Given the description of an element on the screen output the (x, y) to click on. 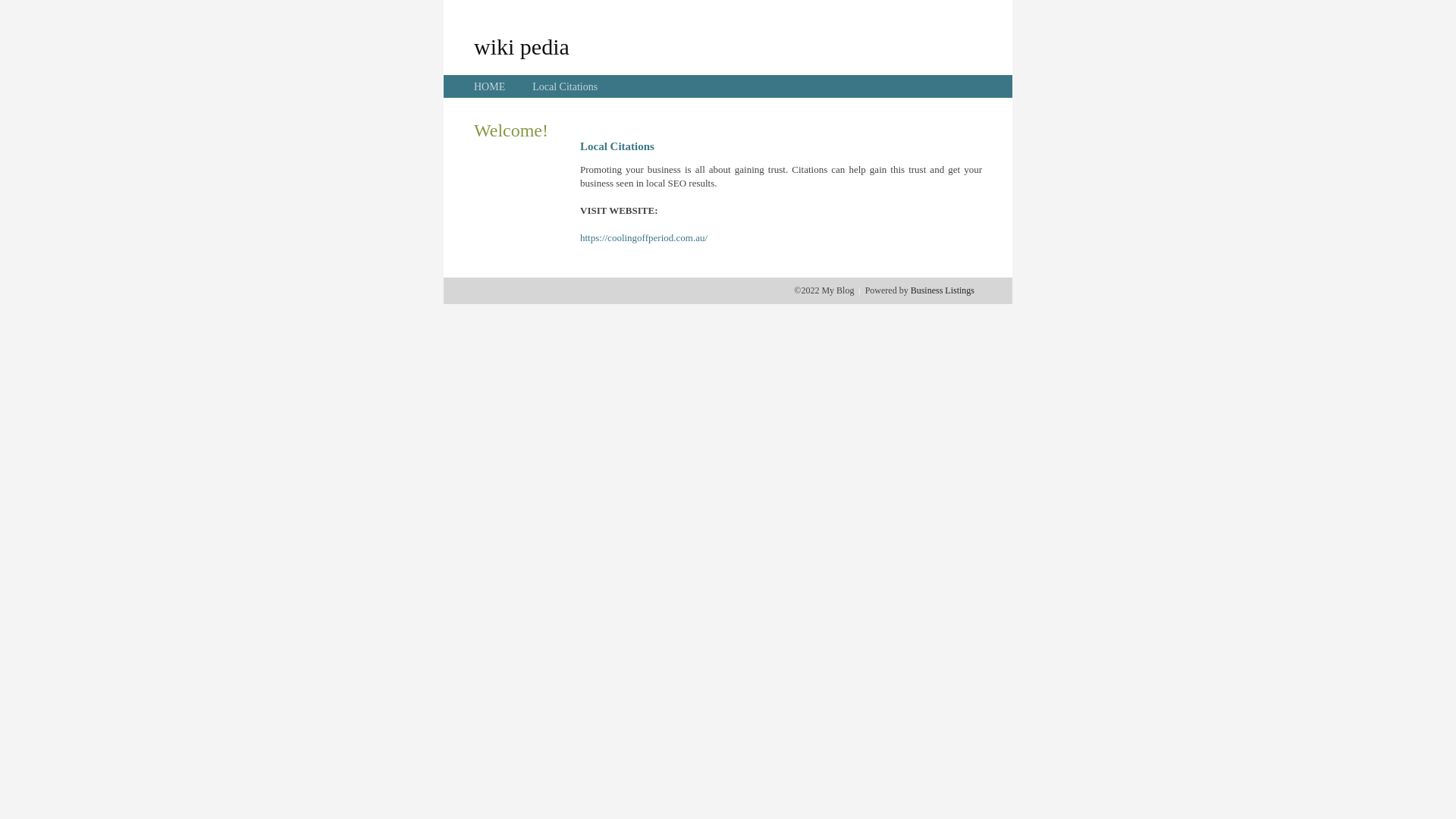
HOME Element type: text (489, 86)
Business Listings Element type: text (942, 290)
wiki pedia Element type: text (521, 46)
Local Citations Element type: text (564, 86)
https://coolingoffperiod.com.au/ Element type: text (643, 237)
